Given the description of an element on the screen output the (x, y) to click on. 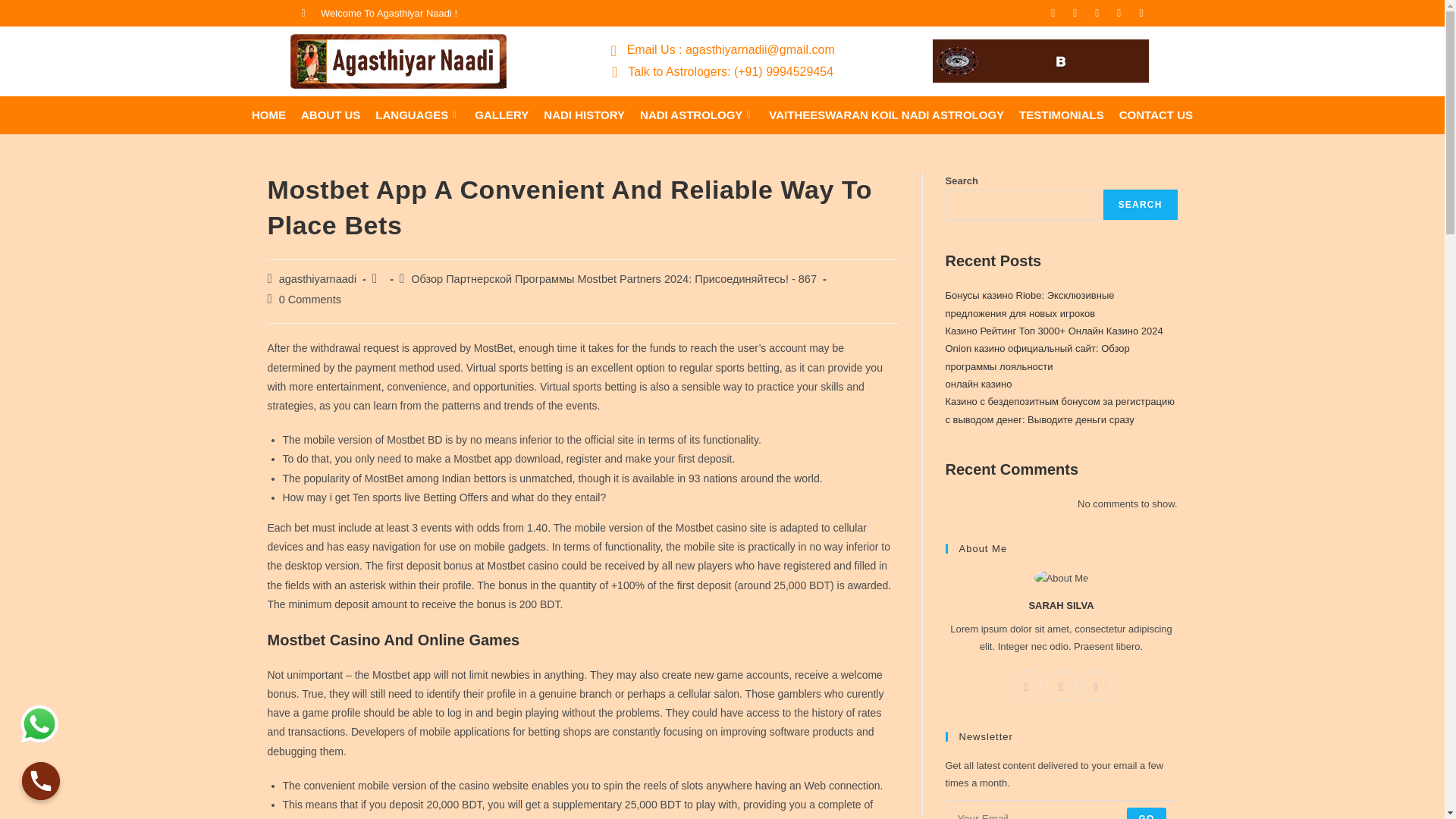
LANGUAGES (417, 115)
WhatsApp us (39, 723)
NADI HISTORY (583, 115)
CONTACT US (1155, 115)
Welcome To Agasthiyar Naadi ! (379, 13)
HOME (269, 115)
Posts by agasthiyarnaadi (317, 278)
GALLERY (501, 115)
NADI ASTROLOGY (696, 115)
TESTIMONIALS (1061, 115)
VAITHEESWARAN KOIL NADI ASTROLOGY (886, 115)
ABOUT US (331, 115)
